Given the description of an element on the screen output the (x, y) to click on. 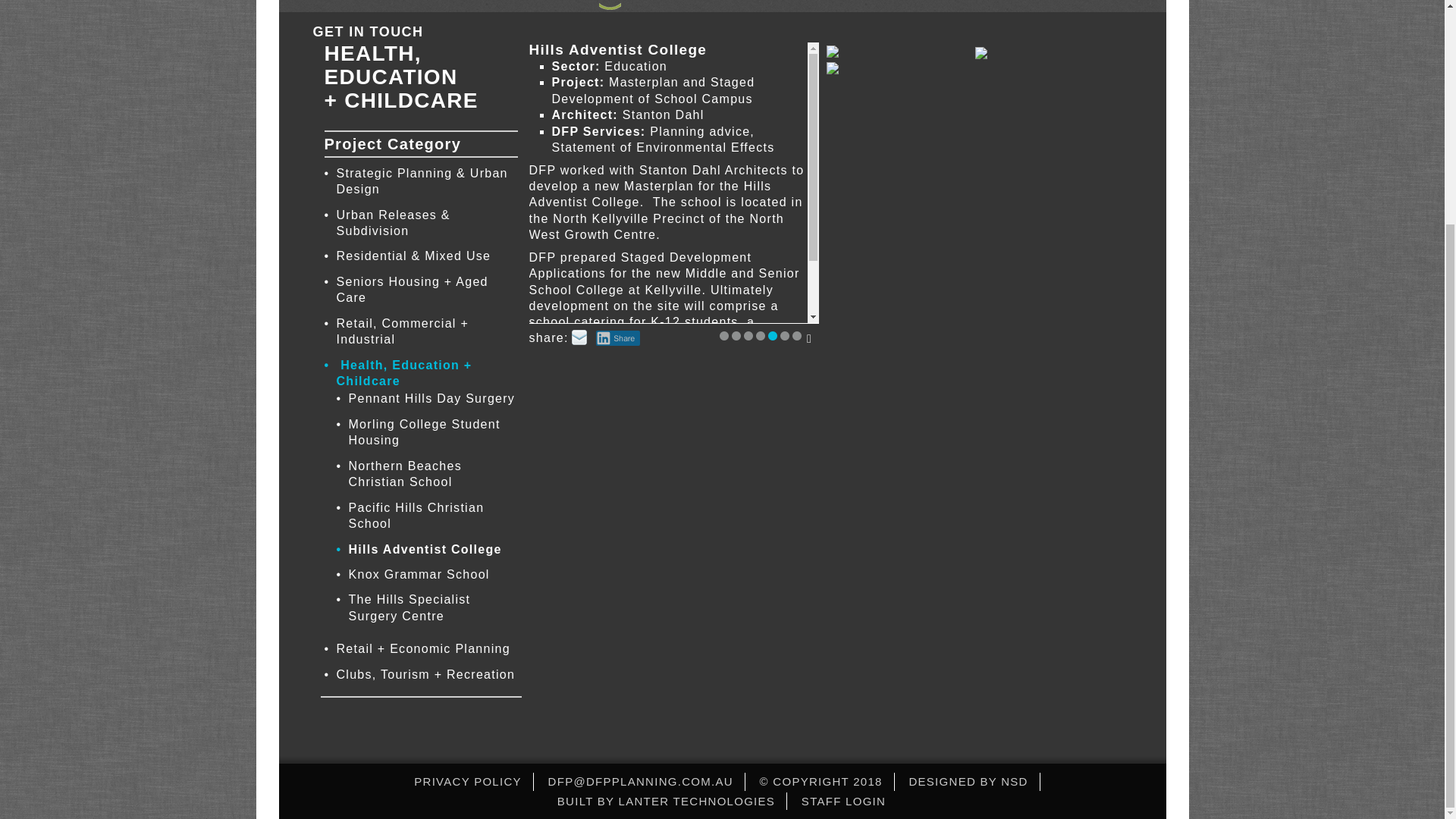
. (797, 335)
. (760, 335)
. (772, 335)
DESIGNED BY NSD (967, 482)
Pennant Hills Day Surgery (433, 401)
. (784, 335)
PRIVACY POLICY (467, 482)
Share (617, 337)
Share this page by email (579, 337)
Northern Beaches Christian School (433, 476)
Pacific Hills Christian School (433, 518)
Knox Grammar School (433, 577)
. (724, 335)
. (736, 335)
Morling College Student Housing (433, 435)
